Given the description of an element on the screen output the (x, y) to click on. 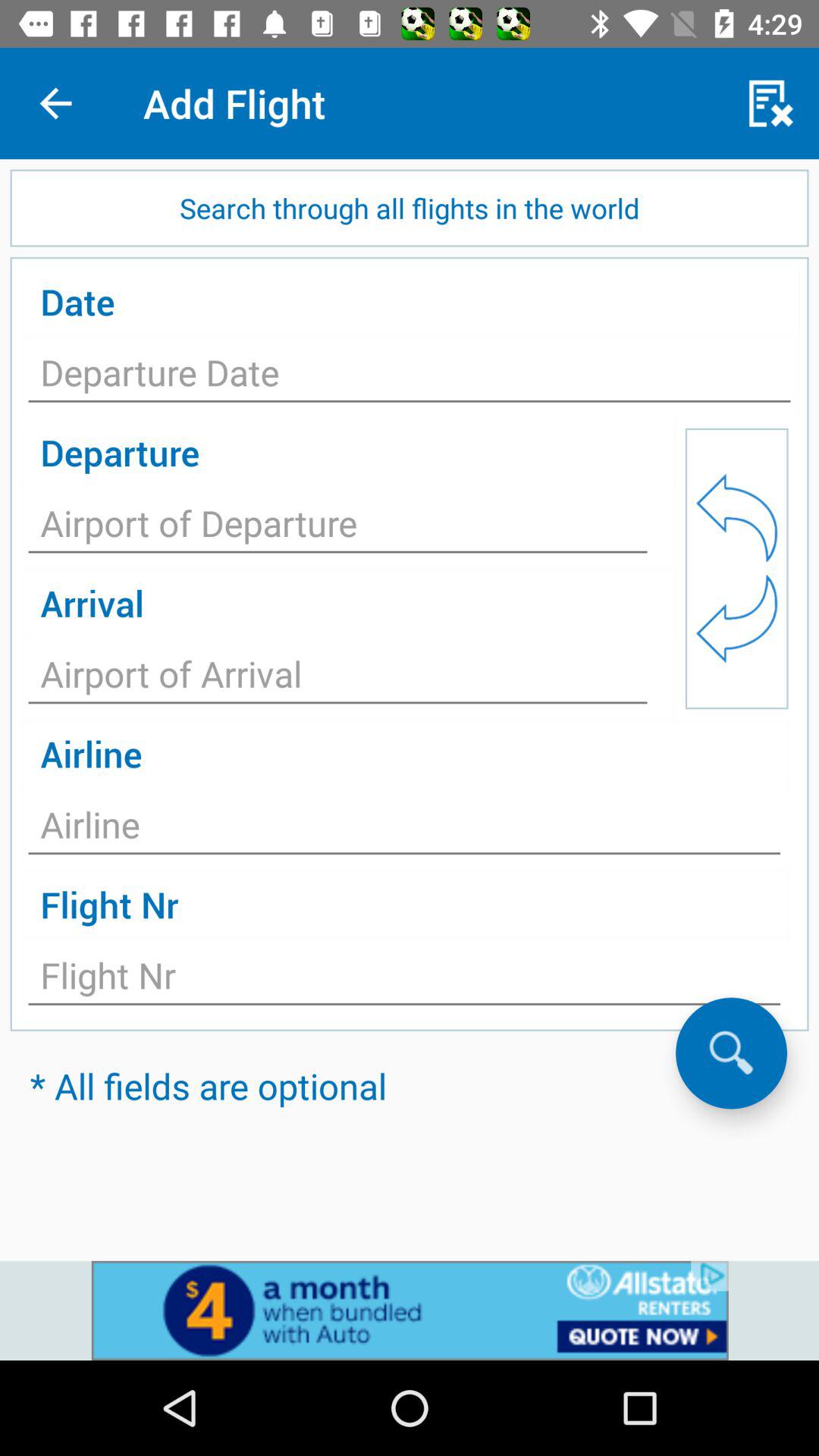
search function (731, 1053)
